Given the description of an element on the screen output the (x, y) to click on. 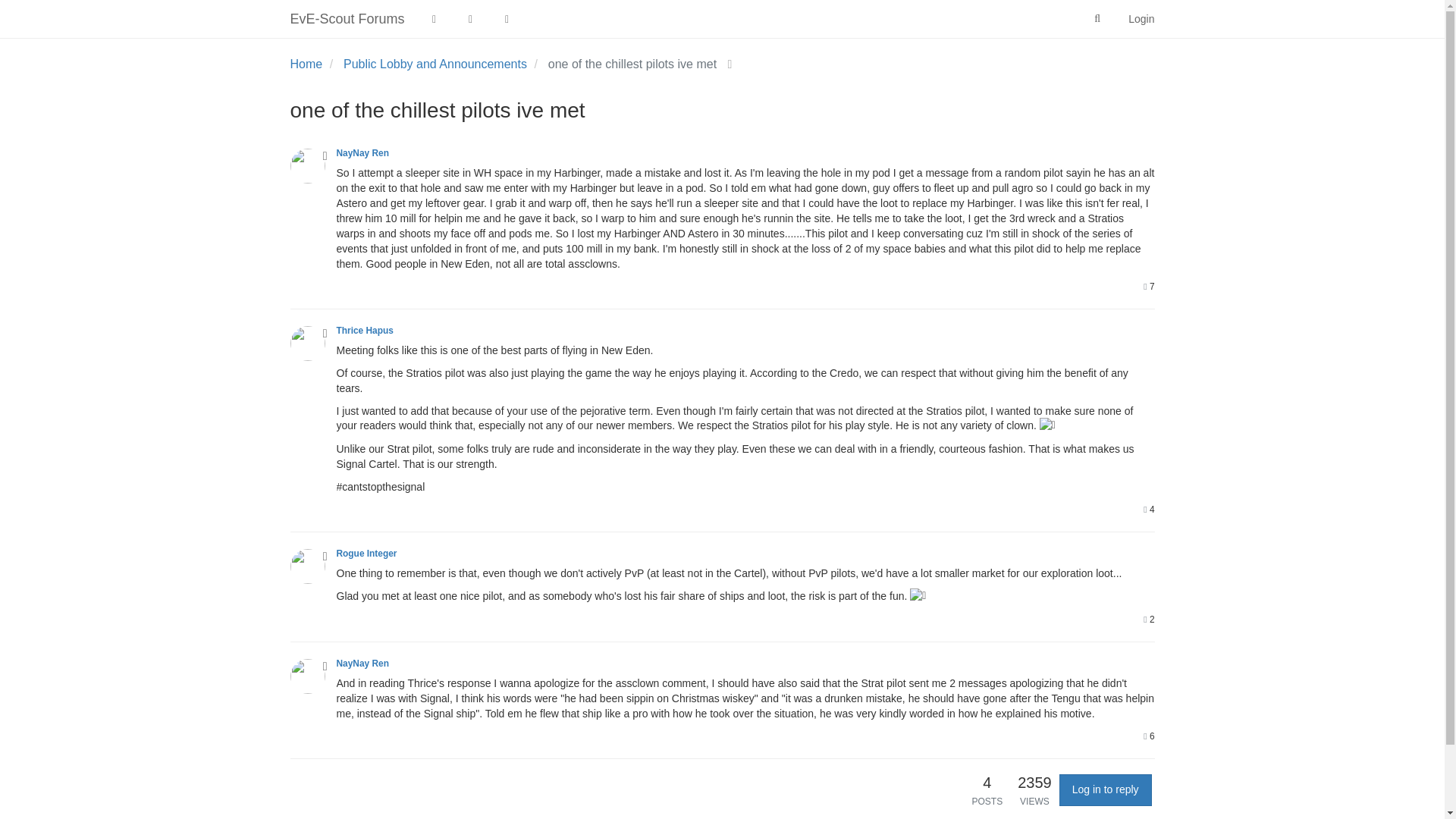
Offline (325, 155)
Public Lobby and Announcements (435, 63)
Search (1096, 18)
Categories (434, 18)
Thrice Hapus (364, 330)
NayNay Ren (362, 153)
Offline (325, 333)
Home (305, 63)
Recent (470, 18)
Login (1141, 18)
Popular (507, 18)
Offline (325, 556)
